Given the description of an element on the screen output the (x, y) to click on. 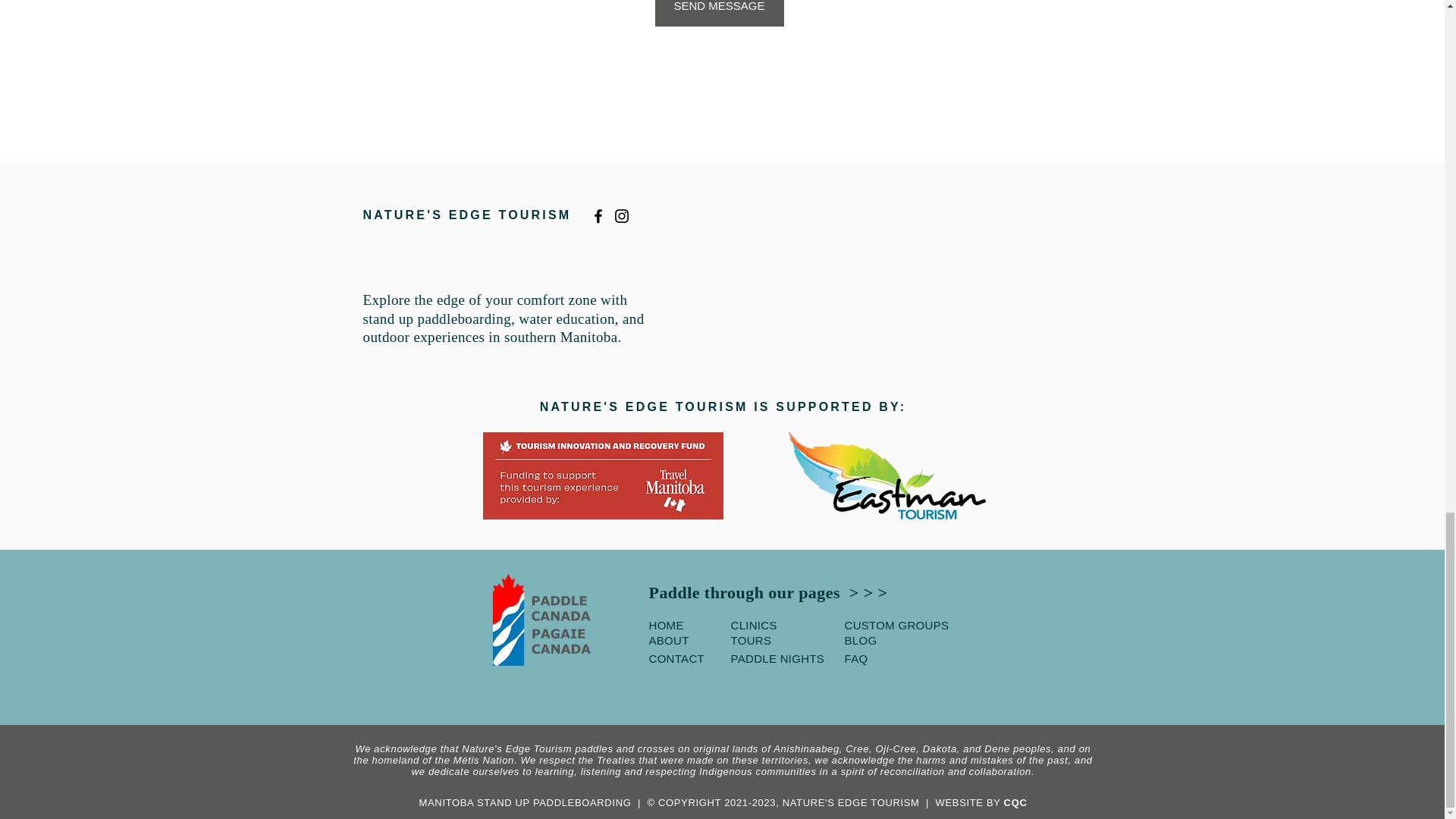
TOURS (750, 640)
WEBSITE BY CQC (981, 802)
FAQ (855, 658)
BLOG (860, 640)
ABOUT (668, 640)
PADDLE NIGHTS (777, 658)
CUSTOM GROUPS (896, 625)
HOME (666, 625)
CONTACT (676, 658)
SEND MESSAGE (719, 13)
CLINICS (753, 625)
